Given the description of an element on the screen output the (x, y) to click on. 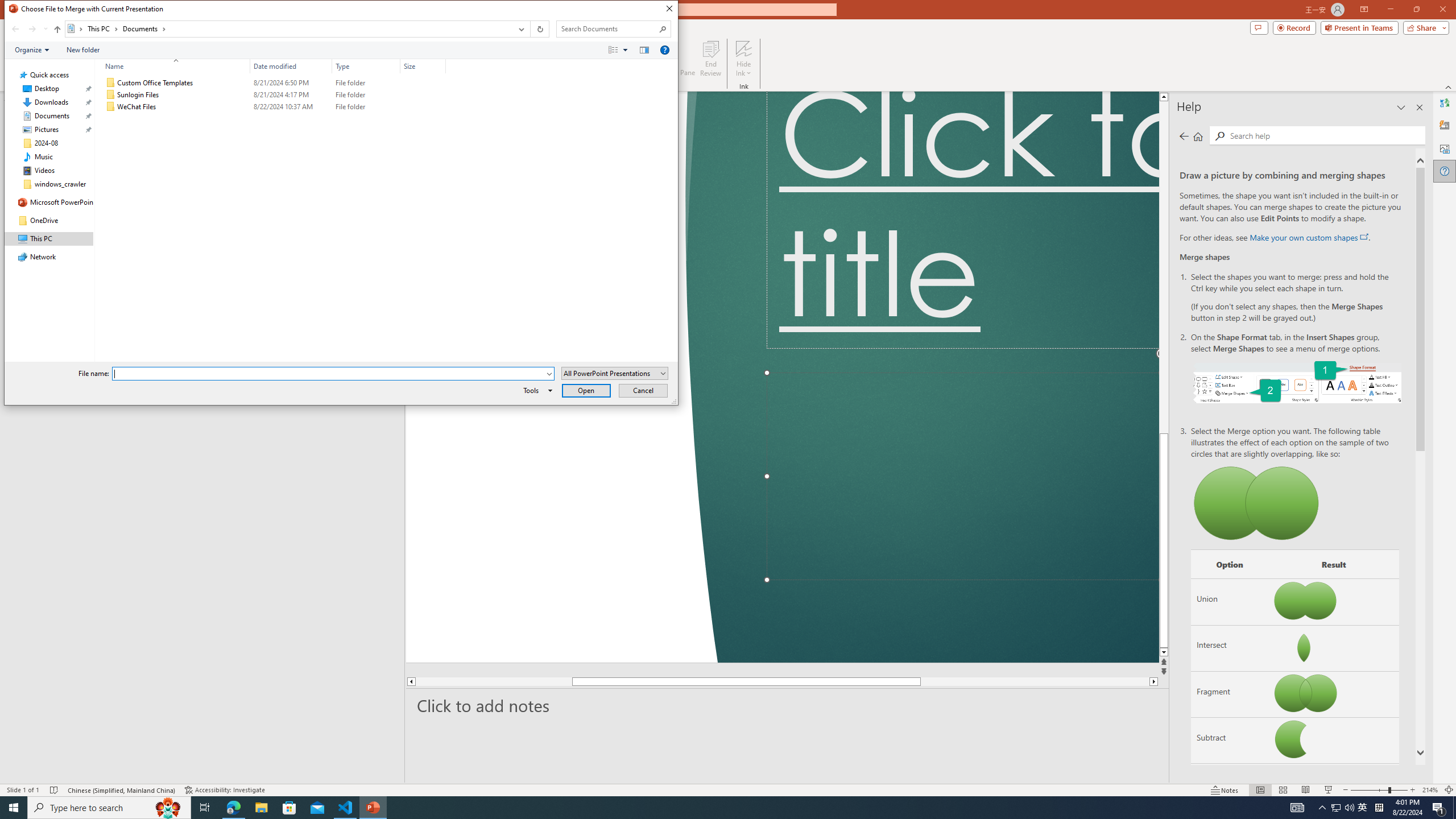
All locations (75, 28)
Hide Ink (743, 48)
Type (365, 106)
